Given the description of an element on the screen output the (x, y) to click on. 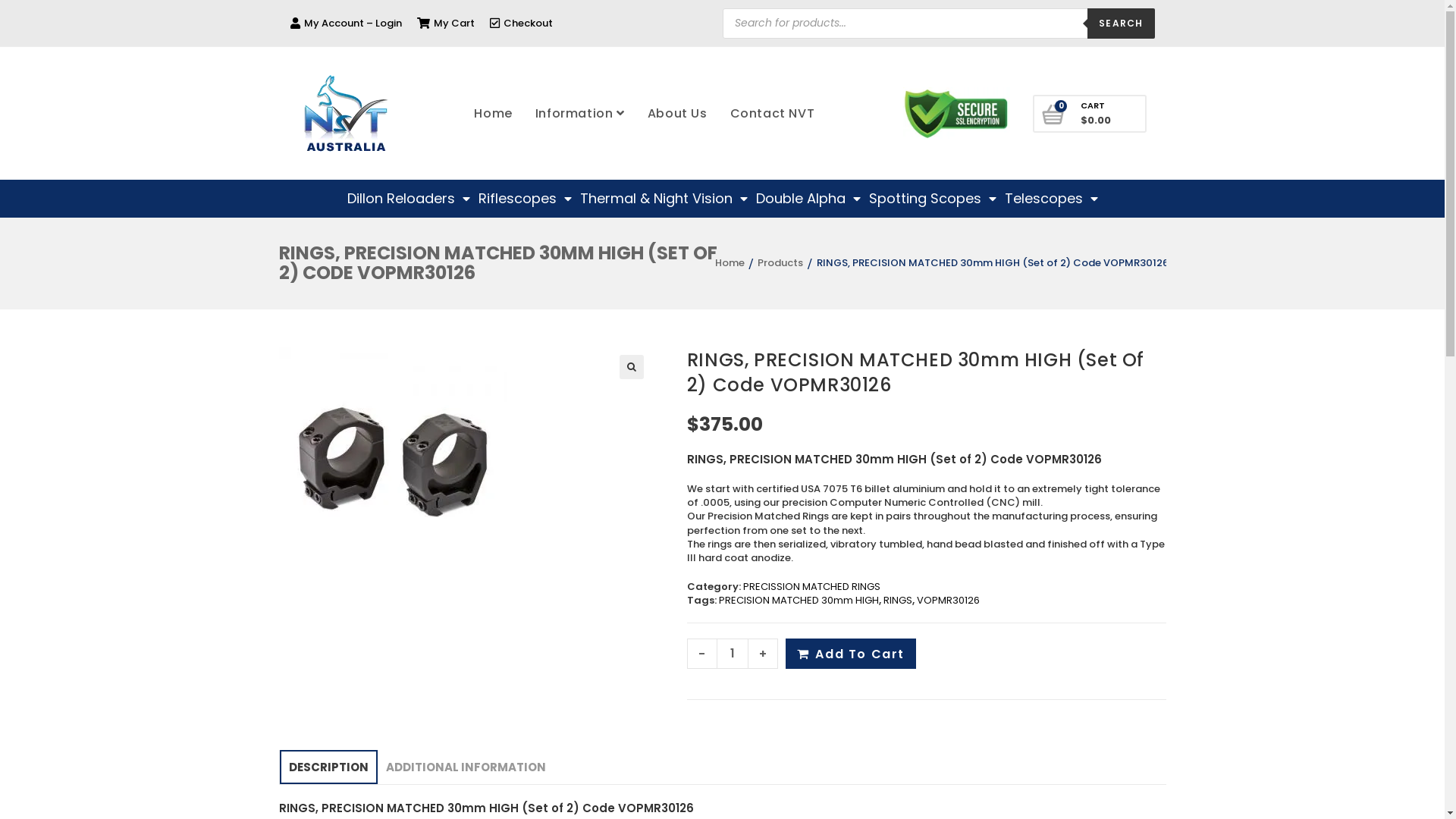
Riflescopes Element type: text (524, 198)
Telescopes Element type: text (1050, 198)
PRECISION MATCHED 30mm HIGH Element type: text (798, 600)
Dillon Reloaders Element type: text (408, 198)
About Us Element type: text (677, 113)
Thermal & Night Vision Element type: text (662, 198)
Contact NVT Element type: text (772, 113)
PRECISSION MATCHED RINGS Element type: text (811, 586)
Home Element type: text (727, 262)
Double Alpha Element type: text (807, 198)
+ Element type: text (762, 653)
Information Element type: text (580, 113)
0 Element type: text (1053, 115)
Checkout Element type: text (521, 23)
DESCRIPTION Element type: text (327, 766)
ADDITIONAL INFORMATION Element type: text (464, 766)
- Element type: text (702, 653)
VOPMR30126 Element type: text (947, 600)
Products Element type: text (780, 262)
Add To Cart Element type: text (850, 653)
SEARCH Element type: text (1120, 22)
Home Element type: text (492, 113)
30mm-HIGH-Precision_300x Element type: hover (392, 460)
Spotting Scopes Element type: text (932, 198)
RINGS Element type: text (897, 600)
15126 Element type: text (1095, 121)
My Cart Element type: text (445, 23)
